Given the description of an element on the screen output the (x, y) to click on. 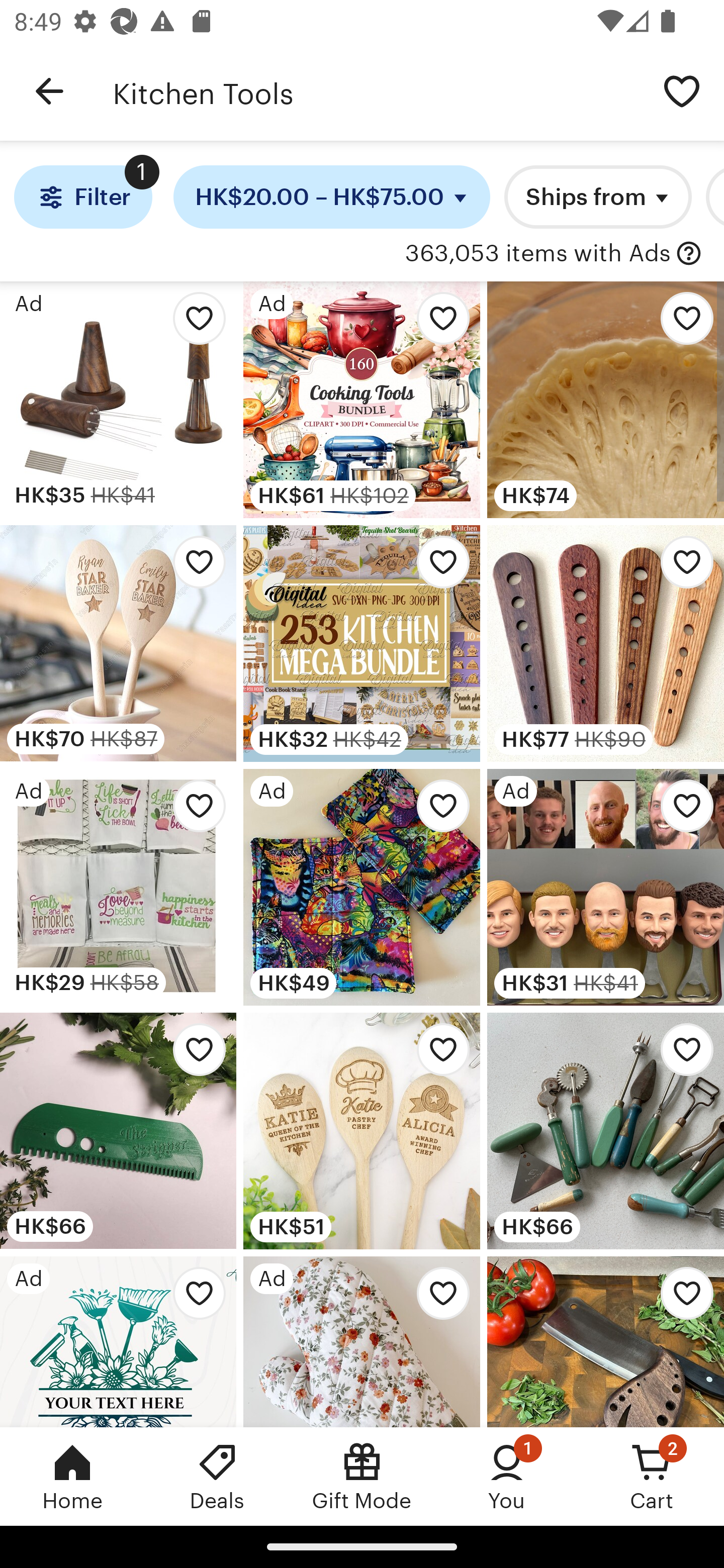
Navigate up (49, 91)
Save search (681, 90)
Kitchen Tools (375, 91)
Filter (82, 197)
HK$20.00 – HK$75.00 (331, 197)
Ships from (598, 197)
363,053 items with Ads (538, 253)
with Ads (688, 253)
Add Oven Mitt with Contrast Band to favorites (438, 1297)
Deals (216, 1475)
Gift Mode (361, 1475)
You, 1 new notification You (506, 1475)
Cart, 2 new notifications Cart (651, 1475)
